Given the description of an element on the screen output the (x, y) to click on. 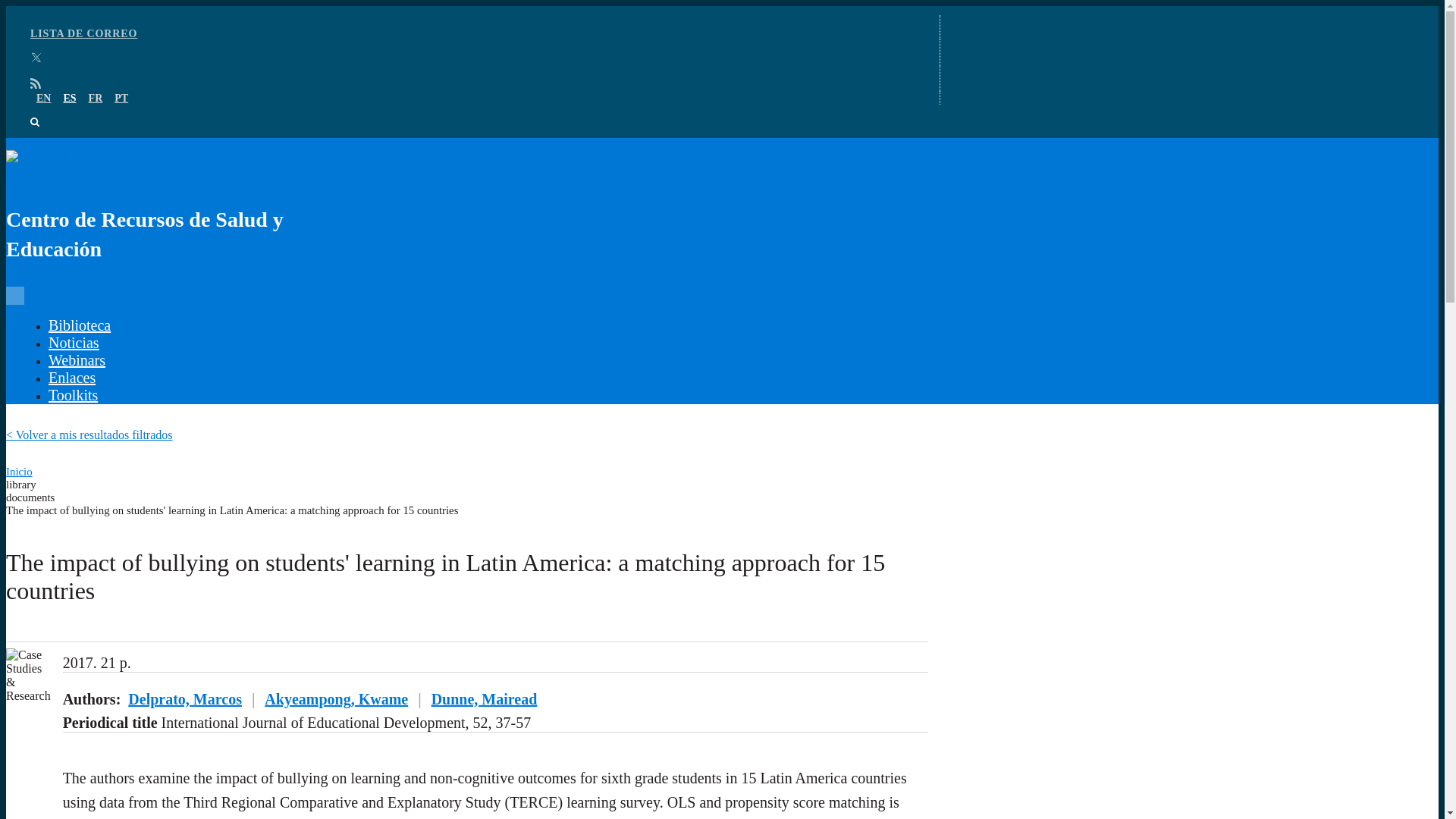
PT (121, 110)
Webinars (76, 373)
Noticias (73, 356)
EN (43, 110)
Akyeampong, Kwame (134, 736)
FR (95, 110)
LISTA DE CORREO (83, 47)
Enlaces (72, 391)
Toolkits (72, 408)
Delprato, Marcos (119, 718)
Pasar al contenido principal (73, 11)
ES (68, 110)
Biblioteca (79, 338)
Dunne, Mairead (115, 753)
Inicio (18, 473)
